Given the description of an element on the screen output the (x, y) to click on. 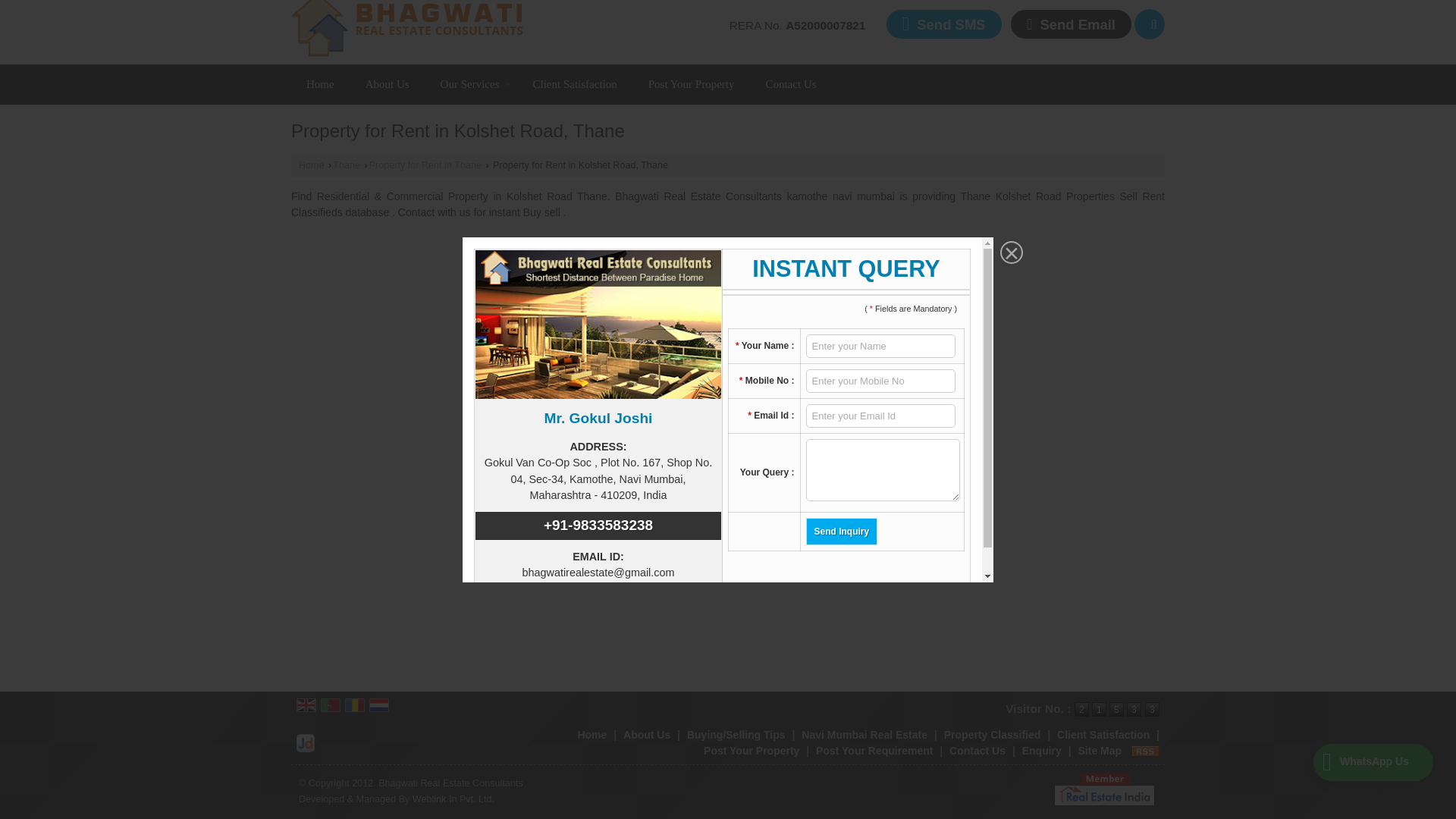
English (306, 704)
About Us (387, 83)
Search (1149, 24)
Home (320, 83)
Client Satisfaction (573, 83)
Contact Us (977, 750)
Portuguese (330, 704)
Contact Us (791, 83)
Home (311, 164)
Send Email (1070, 23)
Close (1009, 236)
Thane (346, 164)
Send SMS (943, 23)
Bhagwati Real Estate Consultants  kamothe navi mumbai (407, 28)
Post Your Property (691, 83)
